Given the description of an element on the screen output the (x, y) to click on. 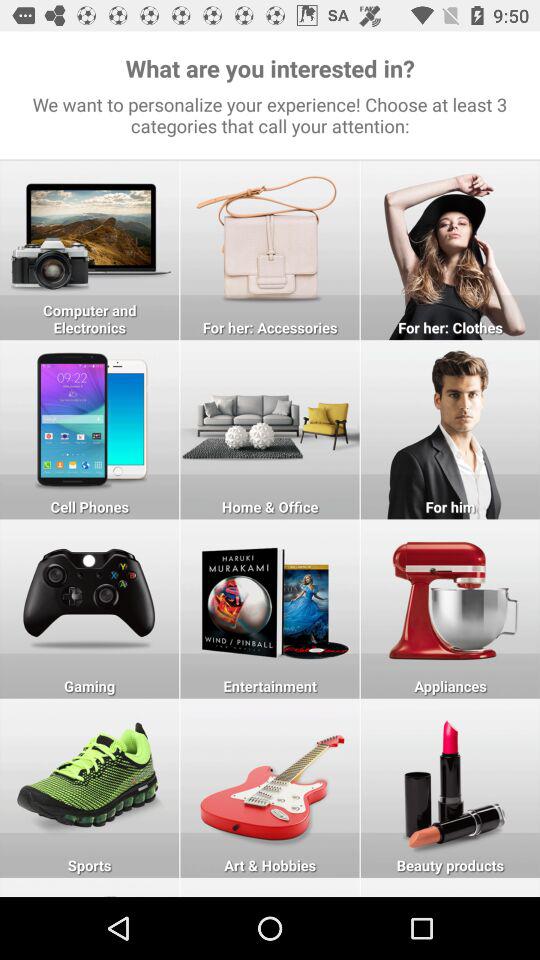
select home office (269, 429)
